Given the description of an element on the screen output the (x, y) to click on. 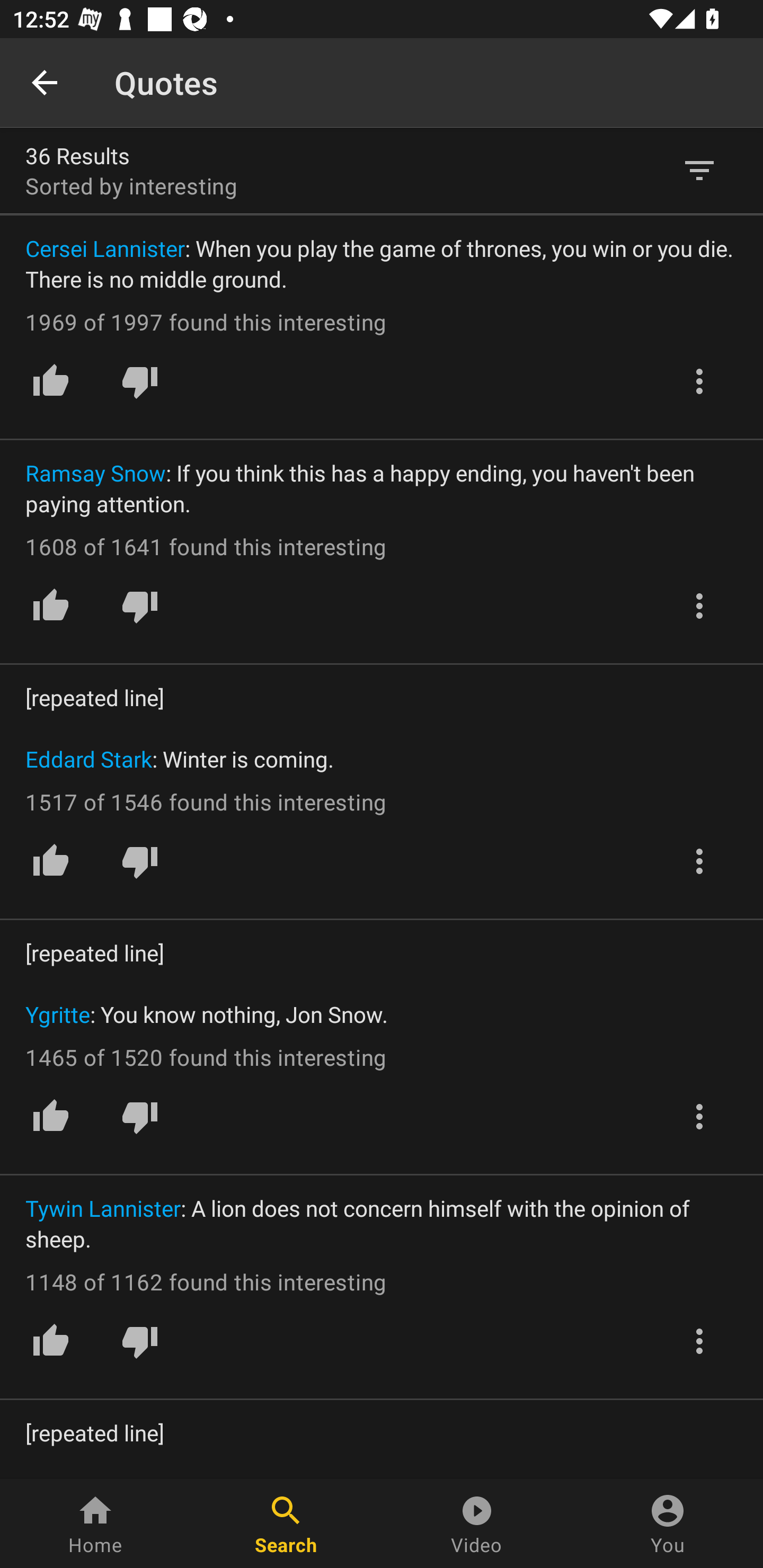
[repeated line]

Eddard Stark: Winter is coming. (381, 728)
Home (95, 1523)
Video (476, 1523)
You (667, 1523)
